Given the description of an element on the screen output the (x, y) to click on. 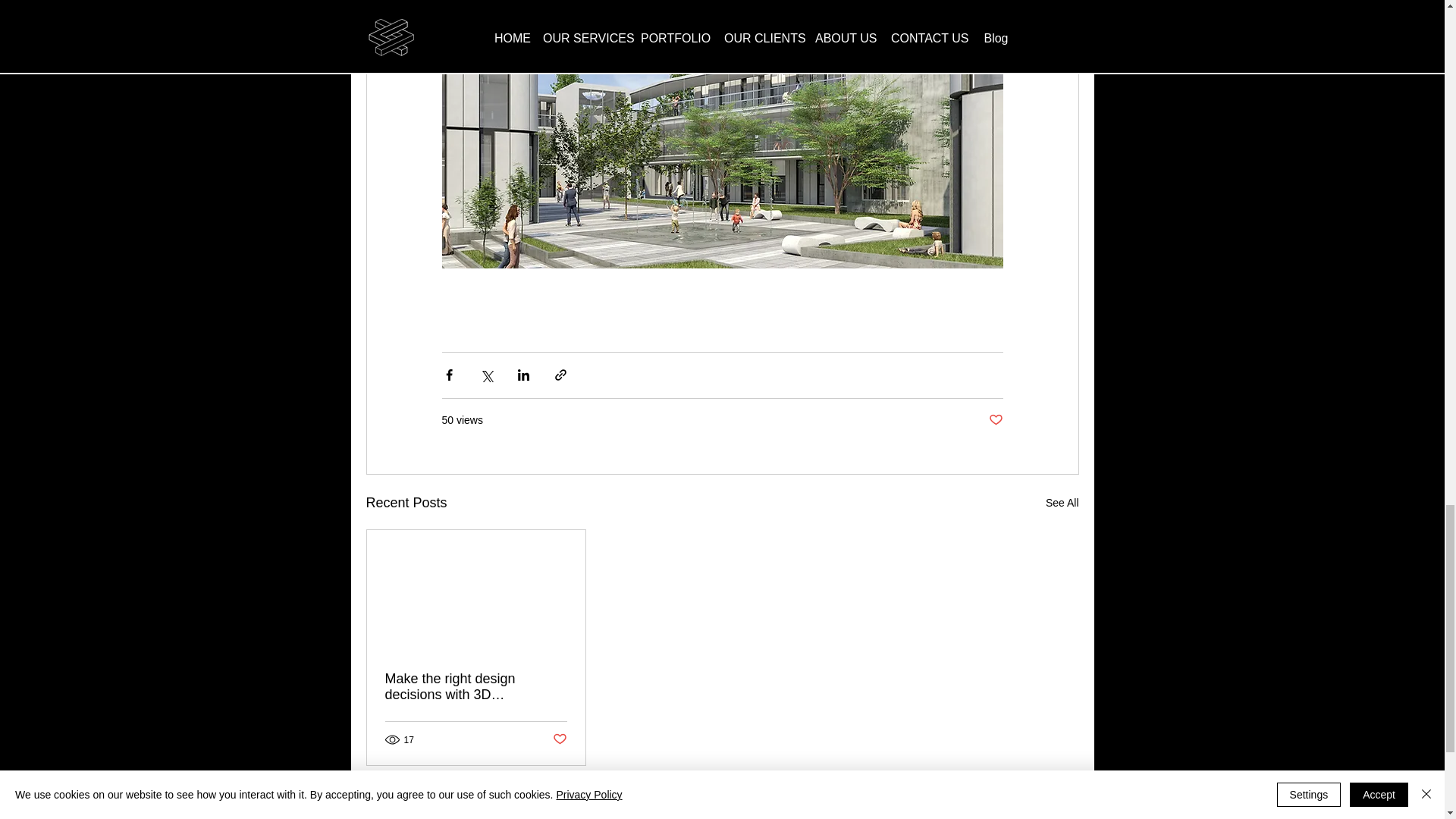
Post not marked as liked (558, 739)
Post not marked as liked (995, 420)
See All (1061, 503)
